Given the description of an element on the screen output the (x, y) to click on. 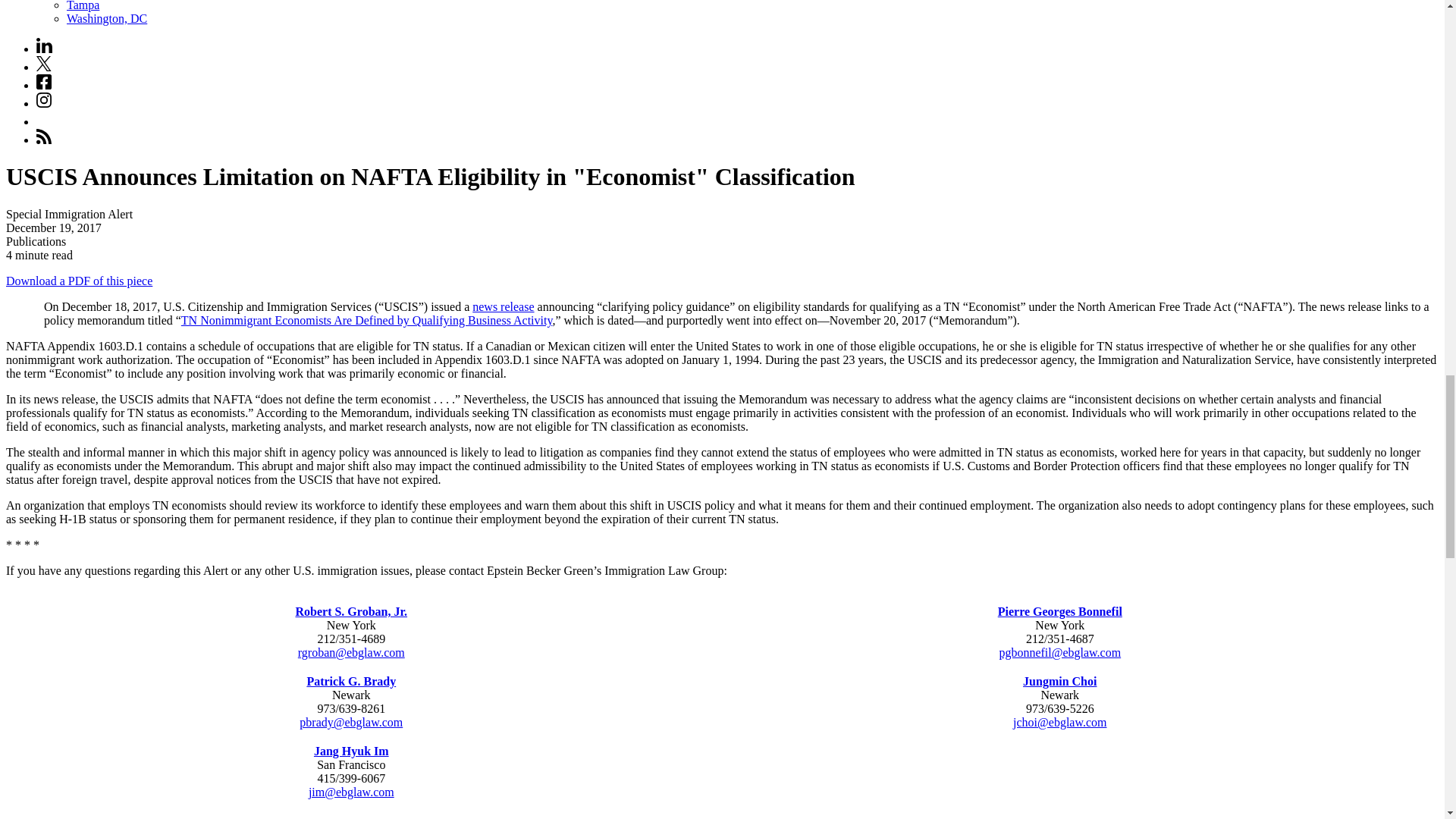
Instagram (44, 103)
Instagram (44, 99)
Youtube (43, 118)
Youtube (43, 121)
Linkedin (44, 48)
Twitter (43, 63)
RSS (43, 136)
Linkedin (44, 45)
Facebook (43, 81)
Twitter (43, 66)
